Given the description of an element on the screen output the (x, y) to click on. 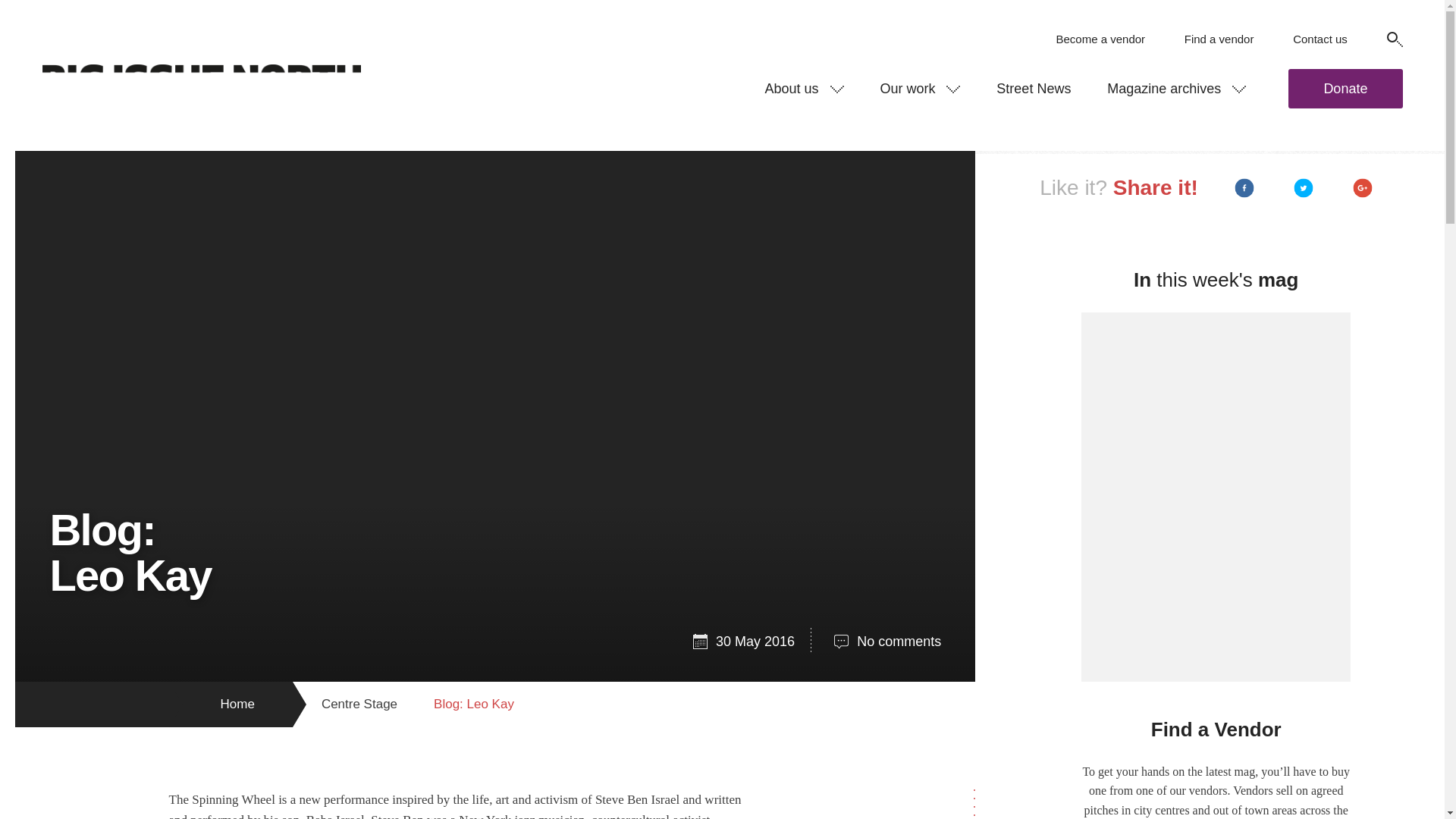
Donate with JustGiving (1345, 88)
Share on Twitter (1303, 187)
Share on Google Plus (1362, 187)
About us (803, 88)
Contact us (1320, 38)
Find a vendor (1219, 38)
search (1307, 64)
Share on Facebook (1244, 187)
Search Big Issue North (1394, 38)
Become a vendor (1099, 38)
Our work (919, 88)
